Given the description of an element on the screen output the (x, y) to click on. 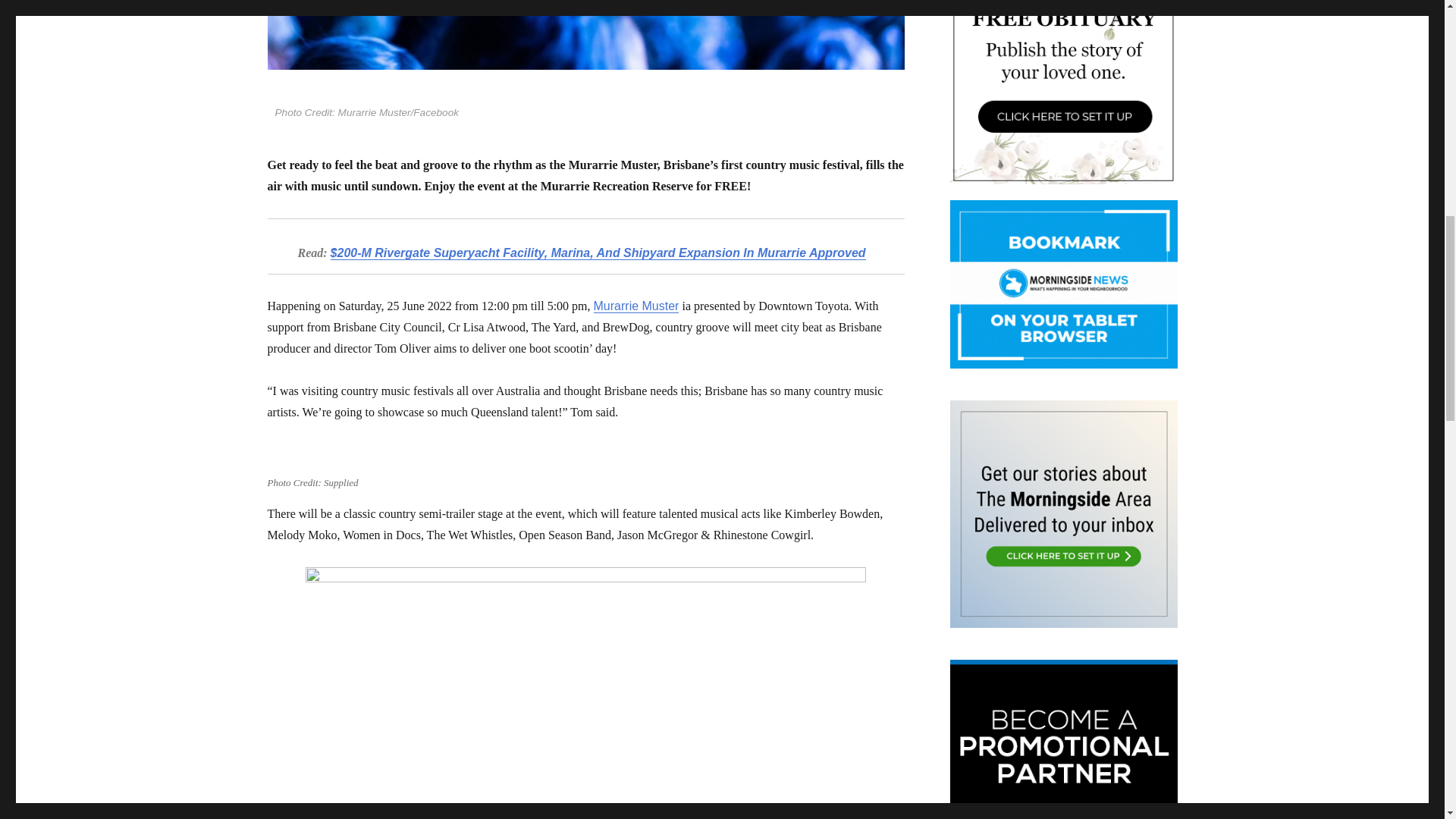
Murarrie Muster (636, 305)
